Given the description of an element on the screen output the (x, y) to click on. 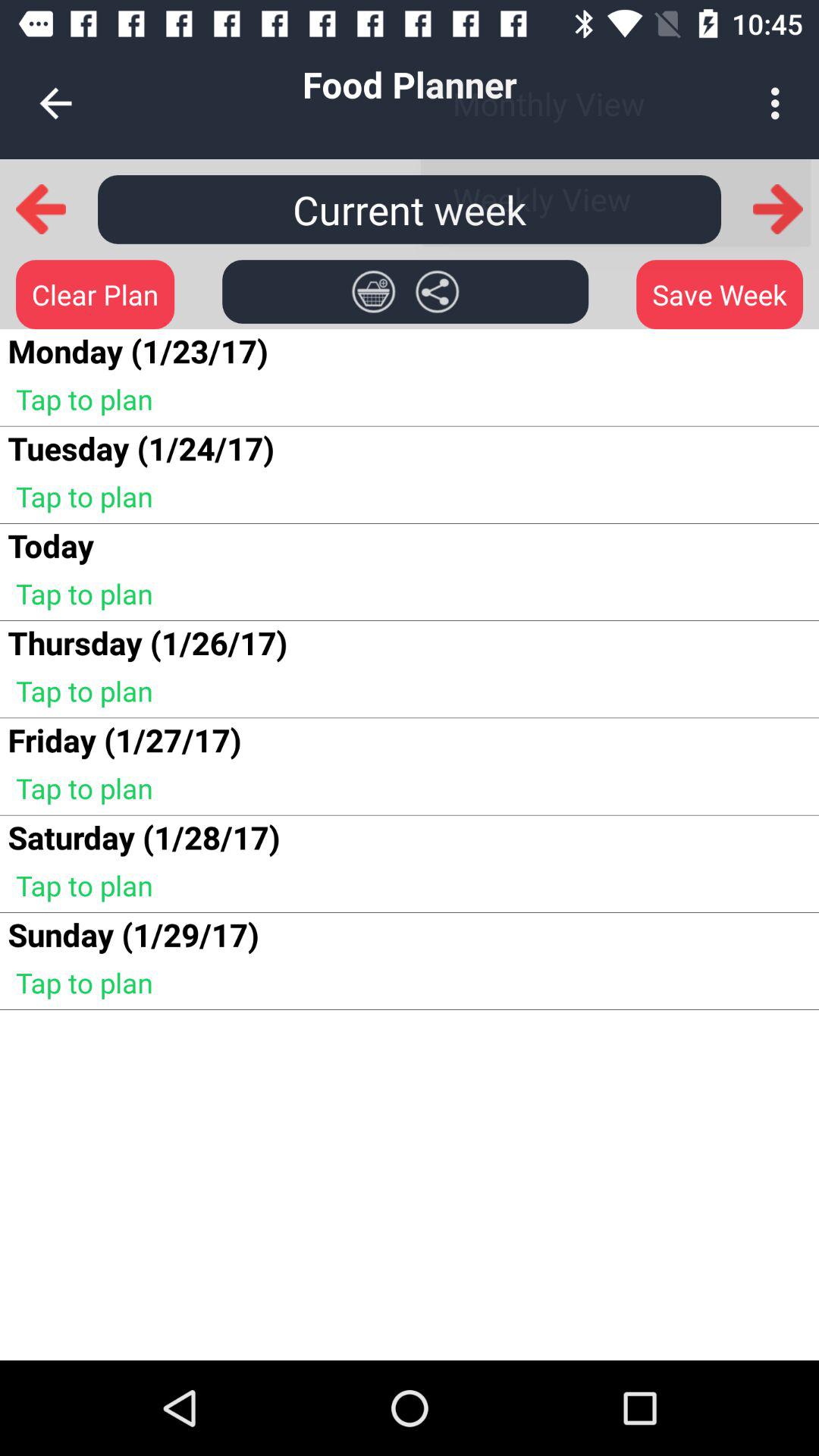
swipe until the today app (50, 545)
